Given the description of an element on the screen output the (x, y) to click on. 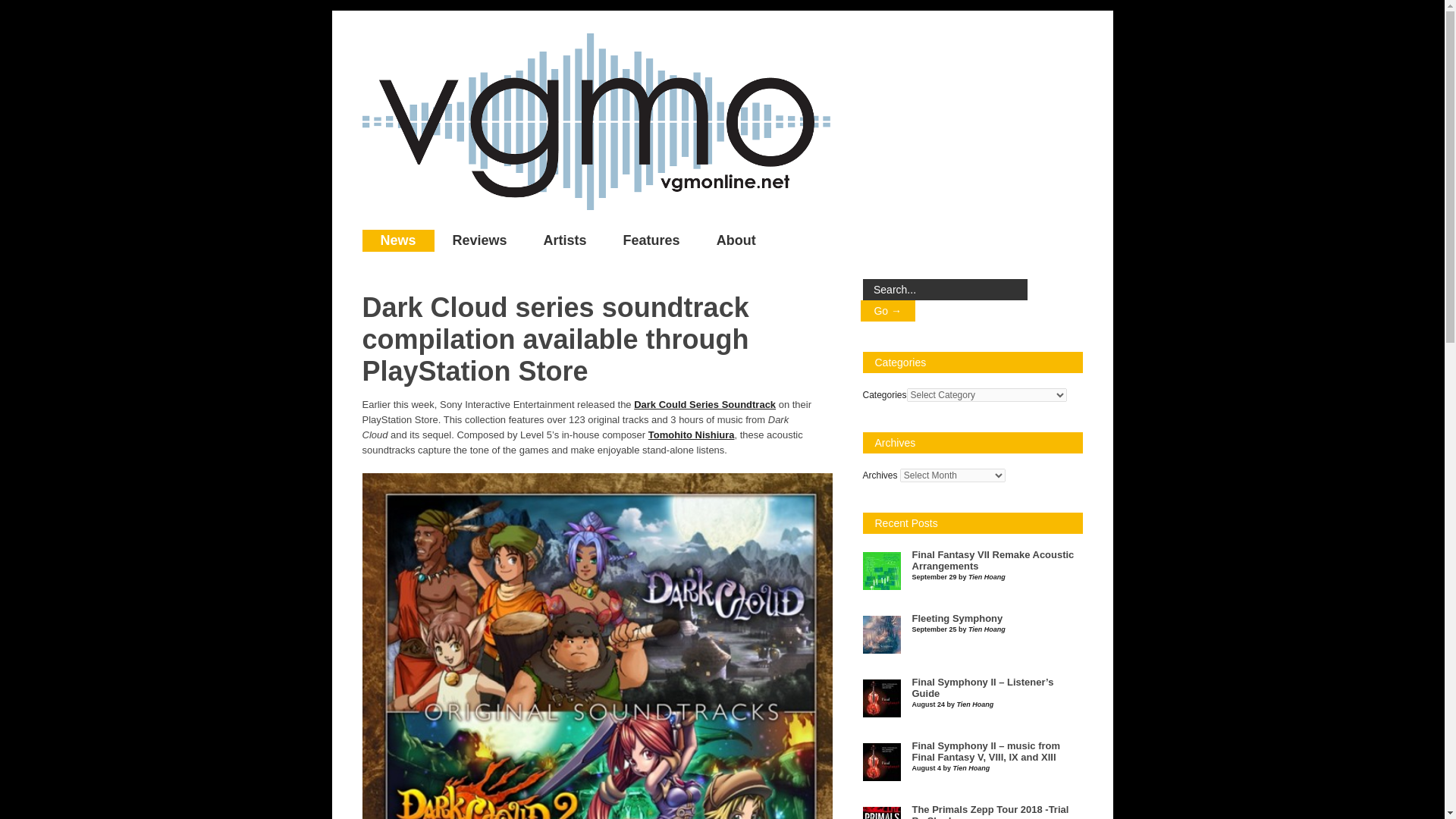
The Primals Zepp Tour 2018 -Trial By Shadow- (989, 811)
Tomohito Nishiura (691, 434)
Dark Could Series Soundtrack (704, 404)
About (736, 240)
News (397, 240)
Features (651, 240)
Final Fantasy VII Remake Acoustic Arrangements (992, 560)
Reviews (479, 240)
Fleeting Symphony (957, 618)
Search... (945, 289)
Artists (565, 240)
Search... (945, 289)
